Given the description of an element on the screen output the (x, y) to click on. 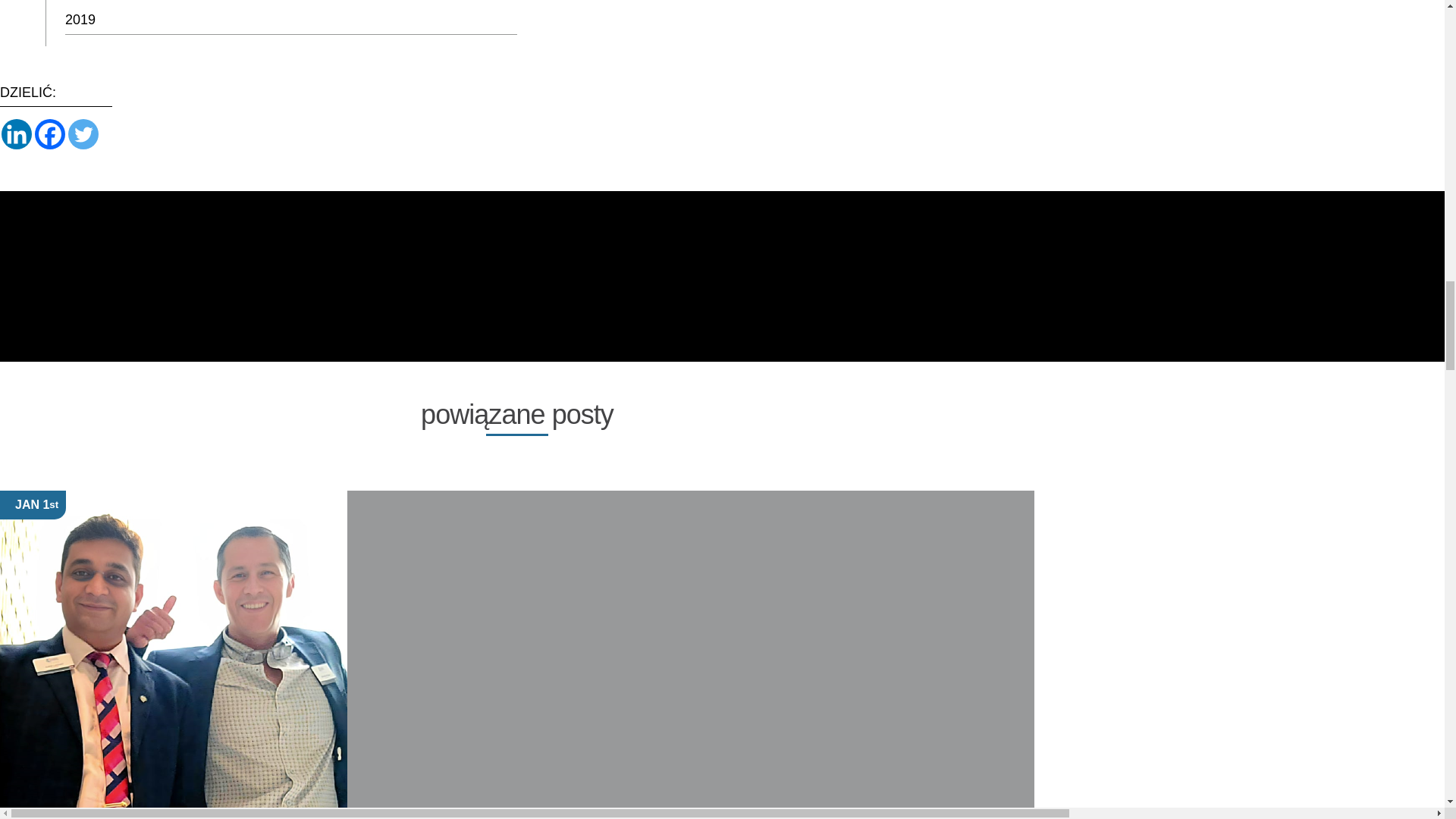
Twitter (83, 133)
Facebook (49, 133)
Linkedin (16, 133)
